Given the description of an element on the screen output the (x, y) to click on. 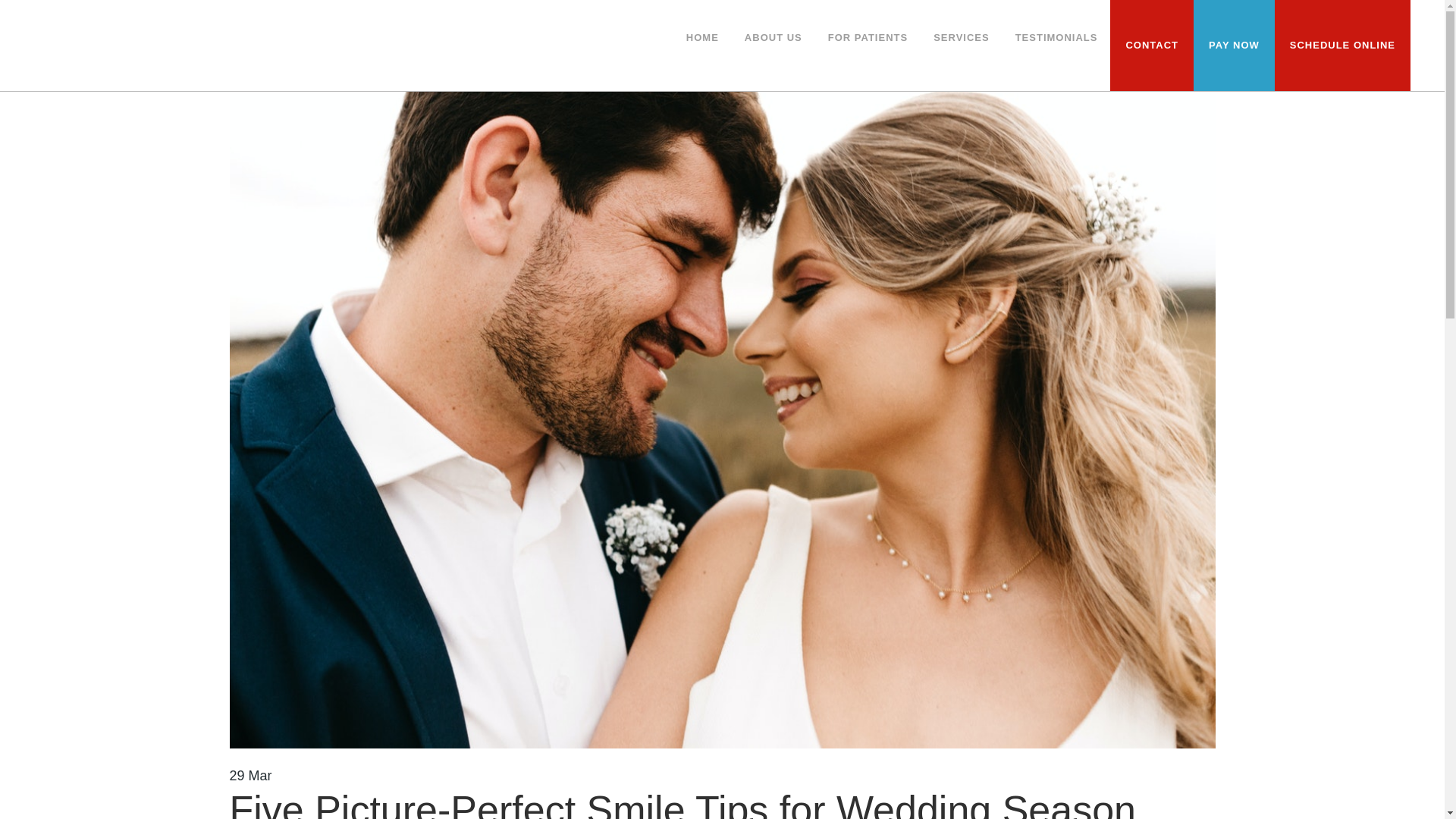
ABOUT US (773, 38)
FOR PATIENTS (867, 38)
SERVICES (961, 38)
